Given the description of an element on the screen output the (x, y) to click on. 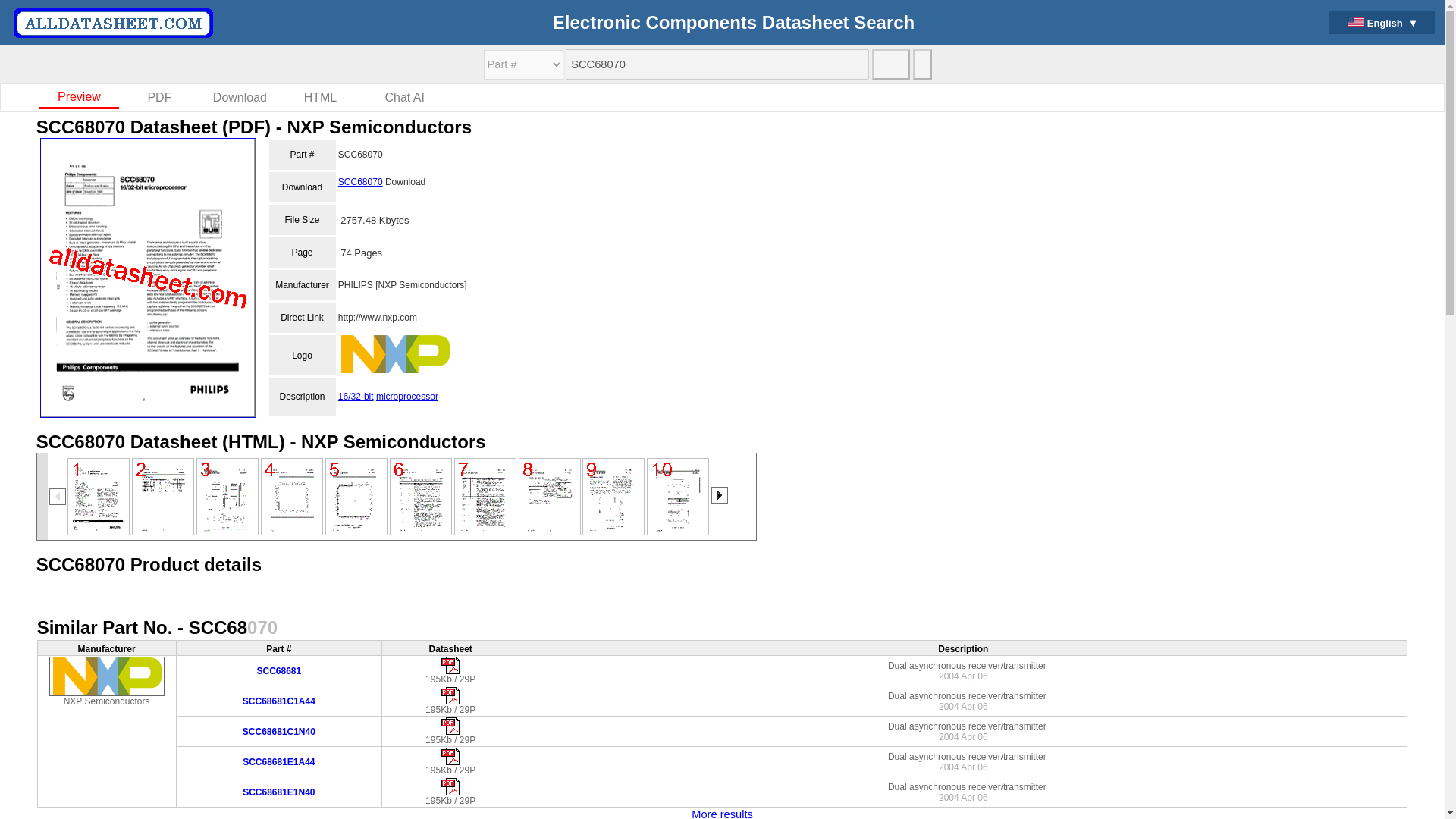
microprocessor (406, 396)
SCC68070 (359, 181)
Chat AI (403, 98)
PDF (159, 98)
HTML (320, 98)
Download (239, 98)
Preview (79, 97)
SCC68070 (717, 64)
SCC68070 (717, 64)
